Given the description of an element on the screen output the (x, y) to click on. 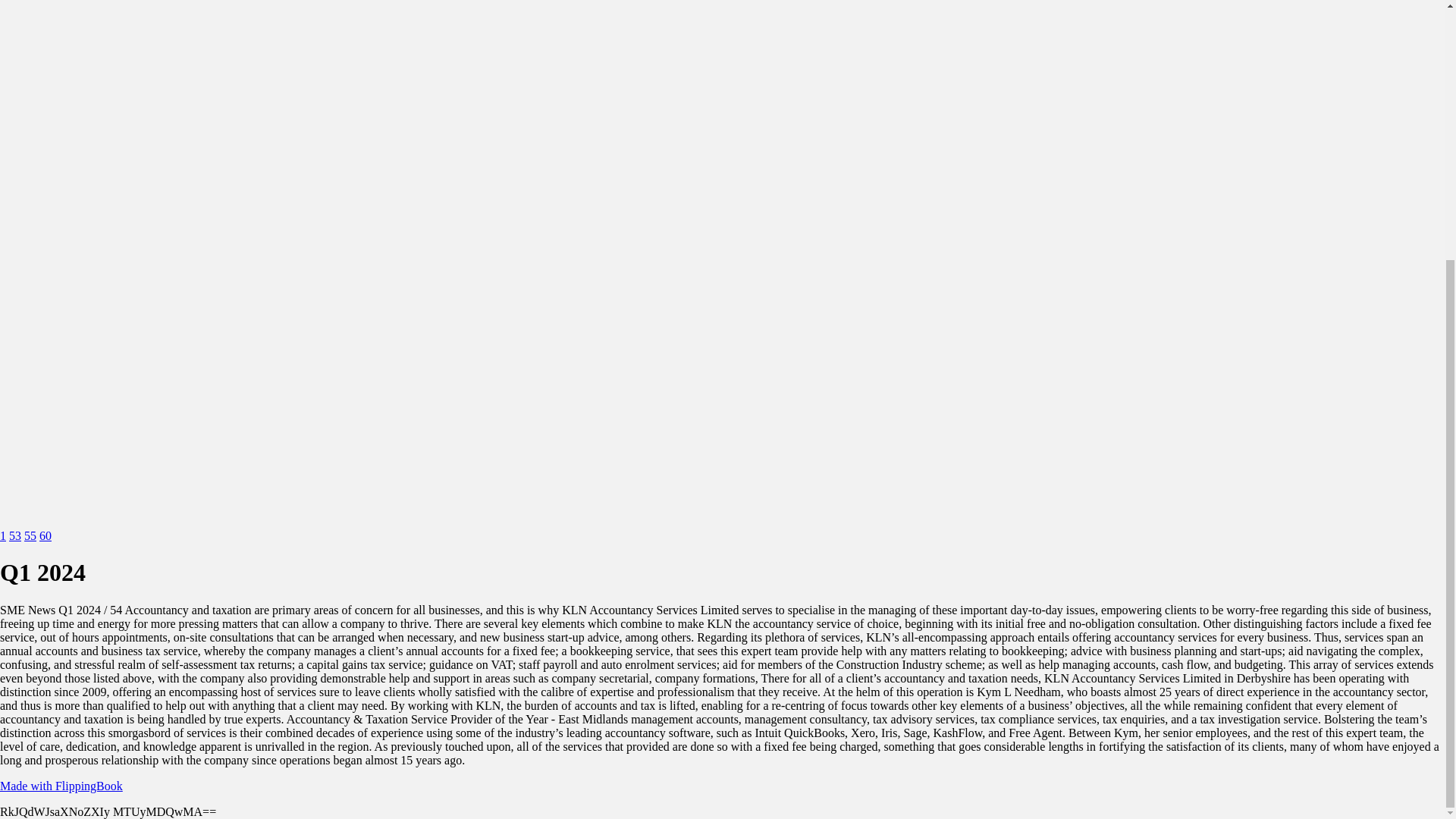
1 (2, 535)
60 (44, 535)
Driving Accountancy Done Right (14, 535)
55 (30, 535)
SME News- Q1 2024 Featuring: (2, 535)
60 (44, 535)
Made with FlippingBook (61, 785)
Made with FlippingBook (61, 785)
55 (30, 535)
53 (14, 535)
